Given the description of an element on the screen output the (x, y) to click on. 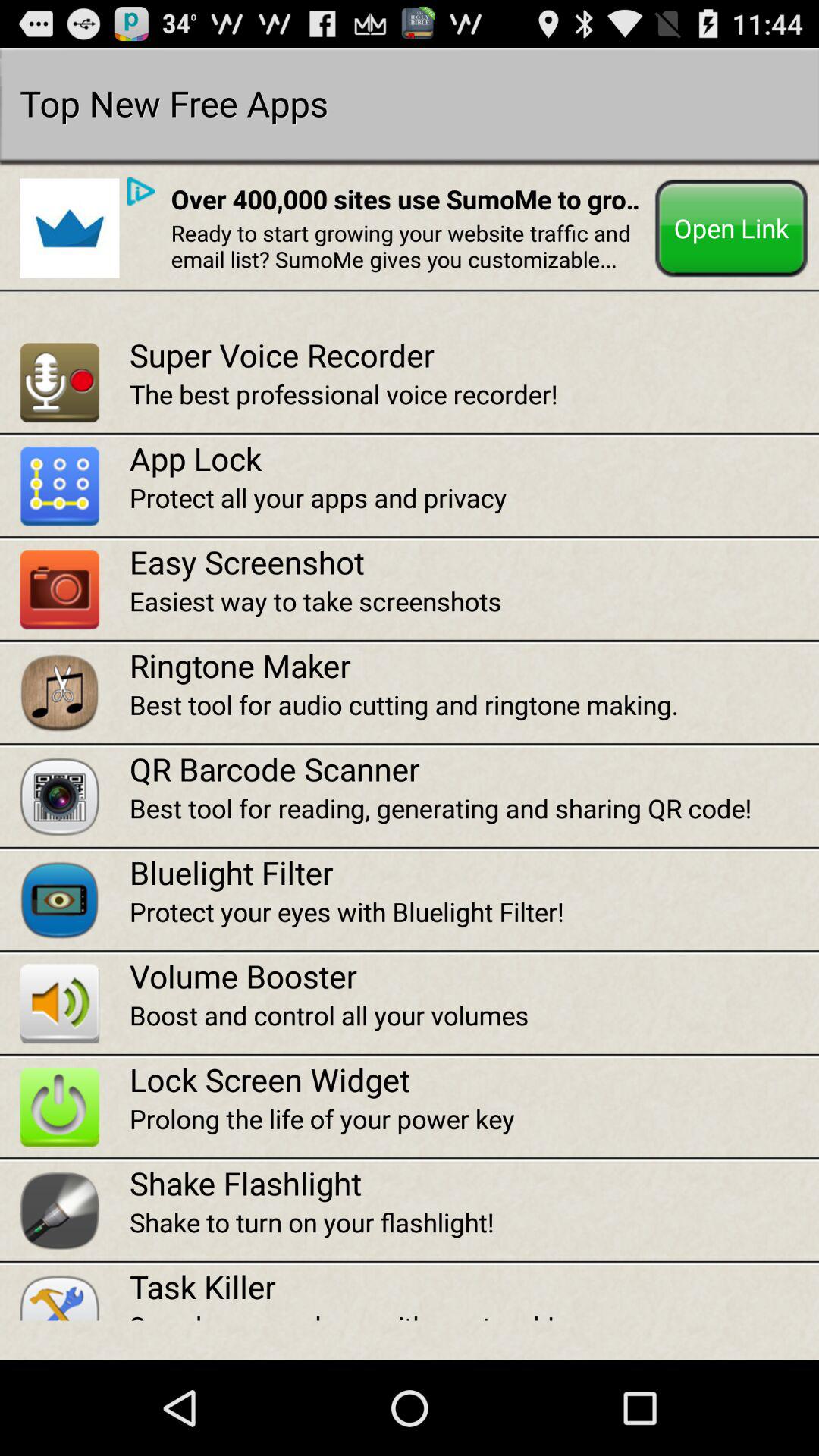
tap the app above prolong the life app (474, 1079)
